Given the description of an element on the screen output the (x, y) to click on. 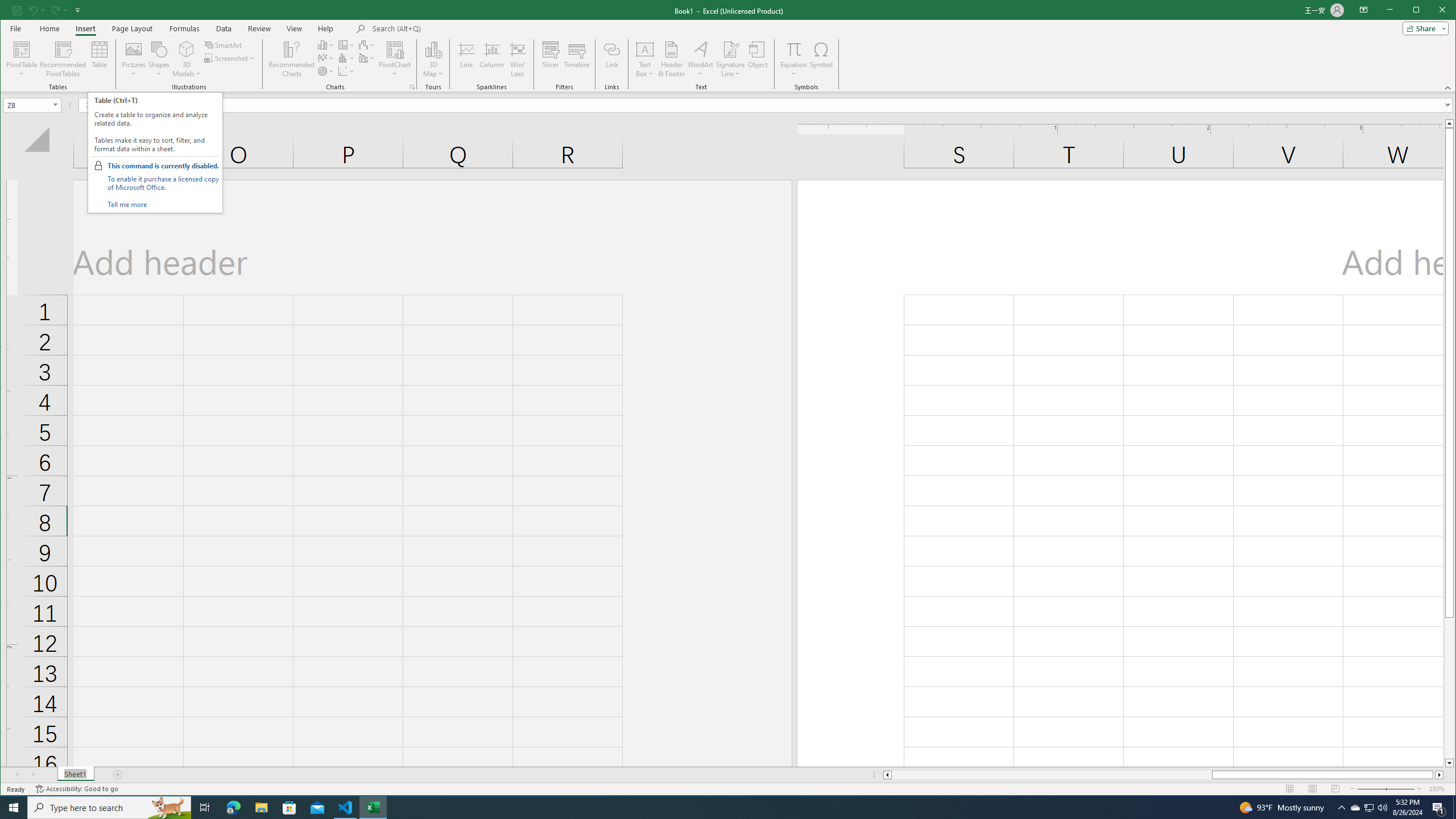
3D Models (186, 48)
Insert Hierarchy Chart (346, 44)
Insert Pie or Doughnut Chart (325, 70)
Signature Line (729, 48)
Signature Line (729, 59)
Insert Waterfall, Funnel, Stock, Surface, or Radar Chart (366, 44)
Insert Scatter (X, Y) or Bubble Chart (346, 70)
Notification Chevron (1341, 807)
